Given the description of an element on the screen output the (x, y) to click on. 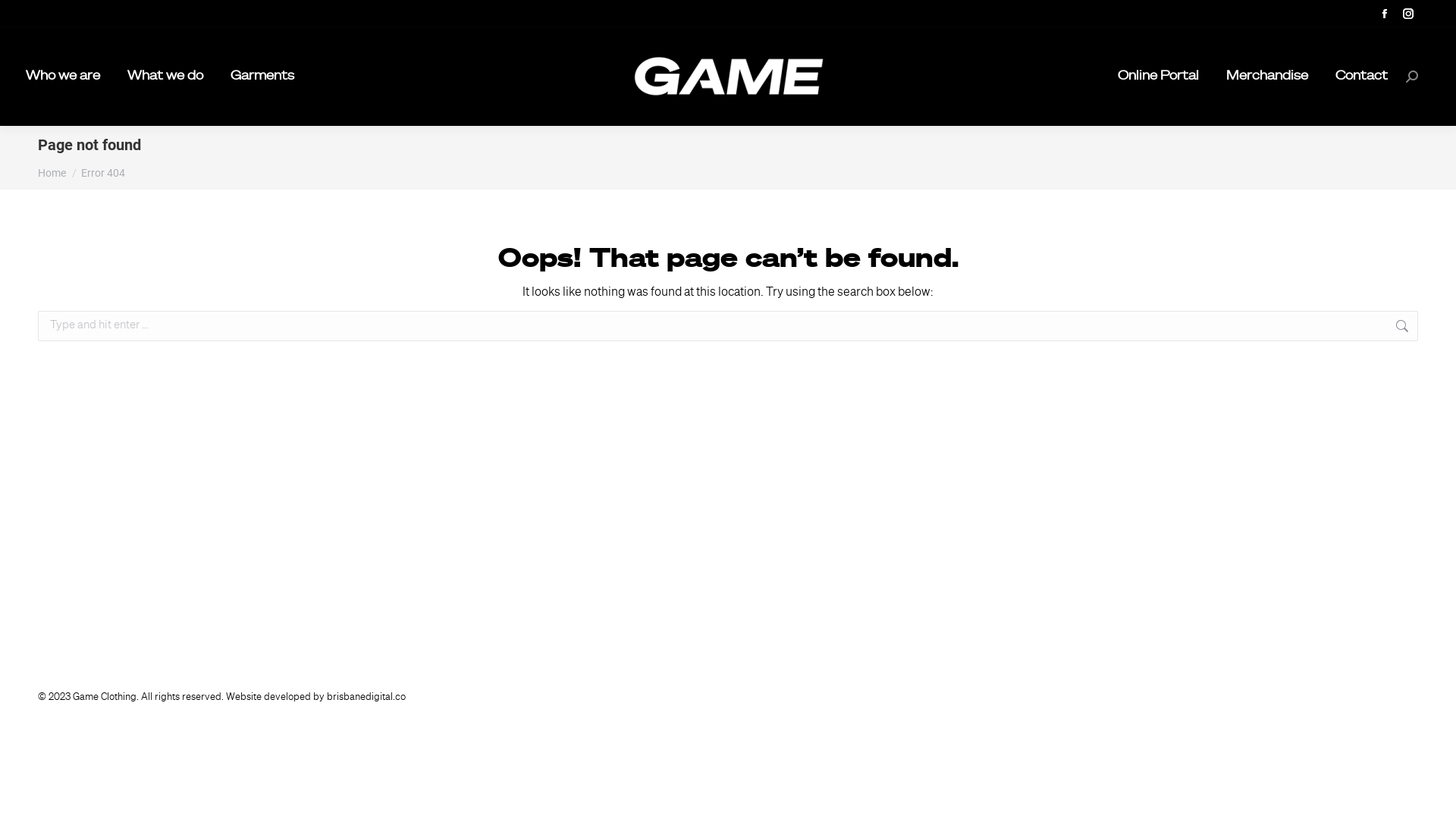
Instagram page opens in new window Element type: text (1408, 13)
brisbanedigital.co Element type: text (365, 697)
Who we are Element type: text (62, 76)
What we do Element type: text (165, 76)
Home Element type: text (51, 172)
Facebook page opens in new window Element type: text (1384, 13)
Garments Element type: text (262, 76)
Contact Element type: text (1361, 76)
Online Portal Element type: text (1157, 76)
Merchandise Element type: text (1267, 76)
Go! Element type: text (24, 16)
